Given the description of an element on the screen output the (x, y) to click on. 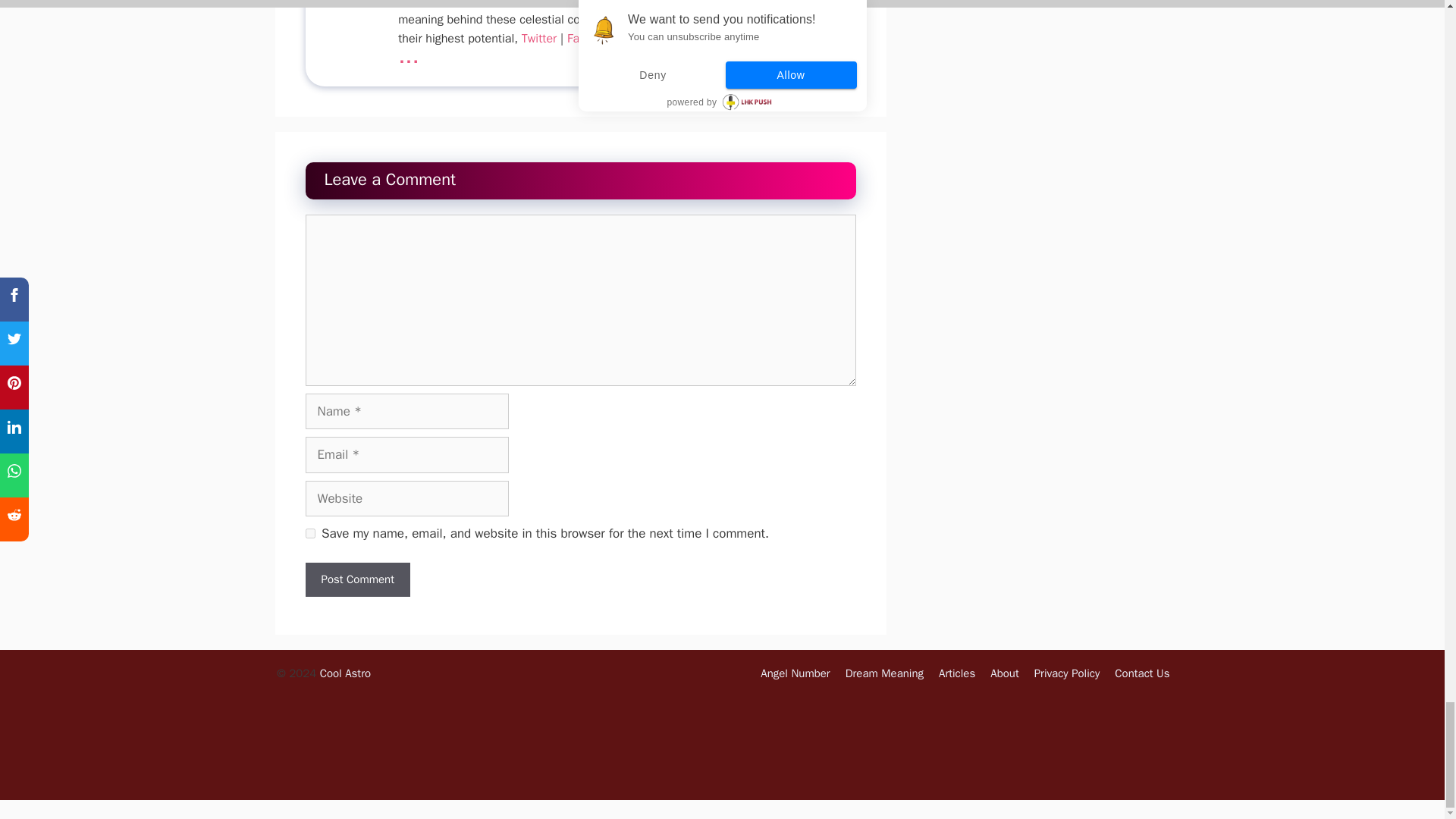
Post Comment (356, 579)
yes (309, 533)
